Given the description of an element on the screen output the (x, y) to click on. 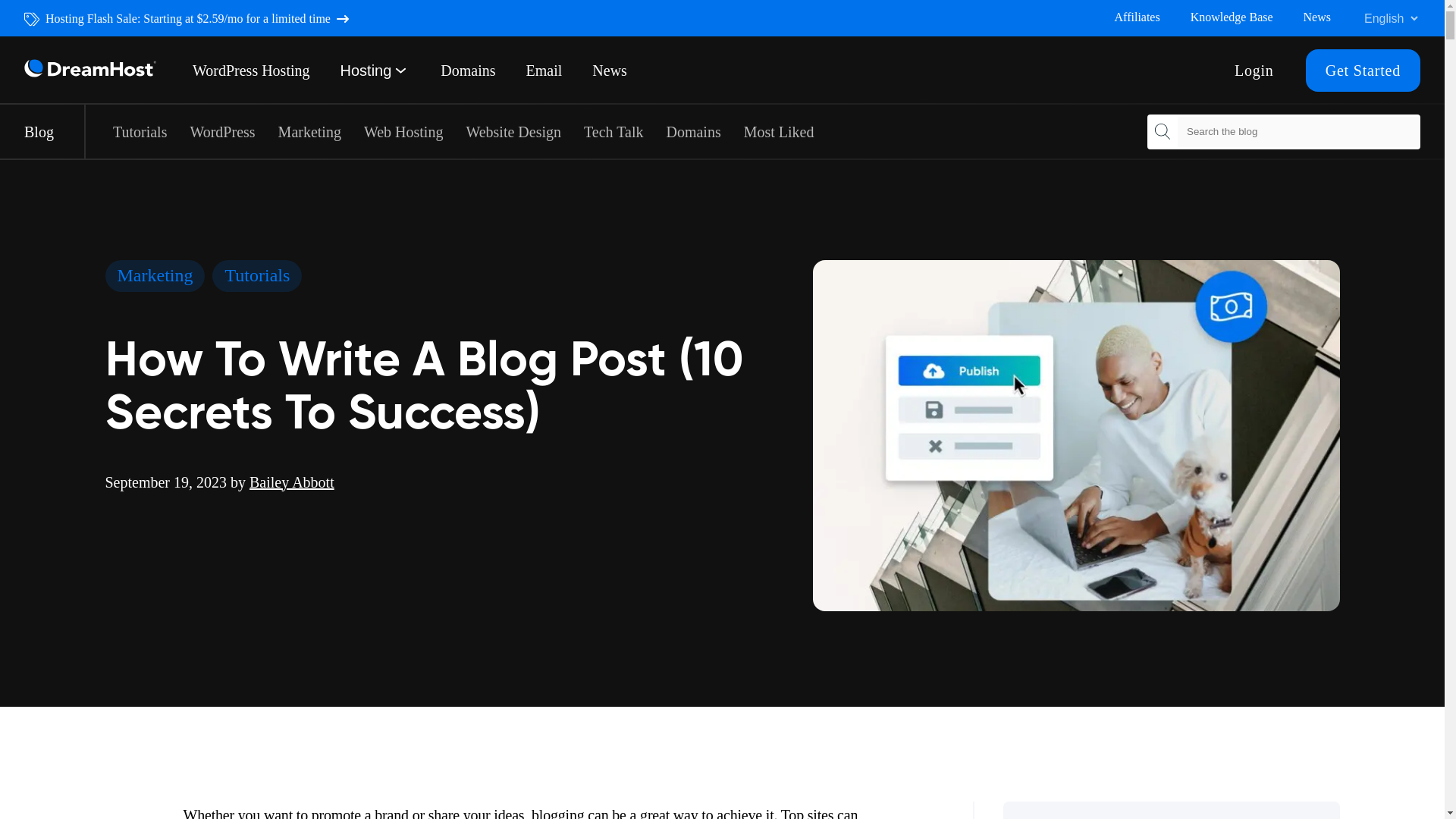
Hosting (365, 70)
Blog (54, 131)
News (609, 70)
News (1316, 16)
Search ... (1162, 132)
Marketing (154, 275)
Web Hosting (404, 130)
Knowledge Base (1231, 16)
WordPress (221, 130)
Tutorials (256, 275)
